Given the description of an element on the screen output the (x, y) to click on. 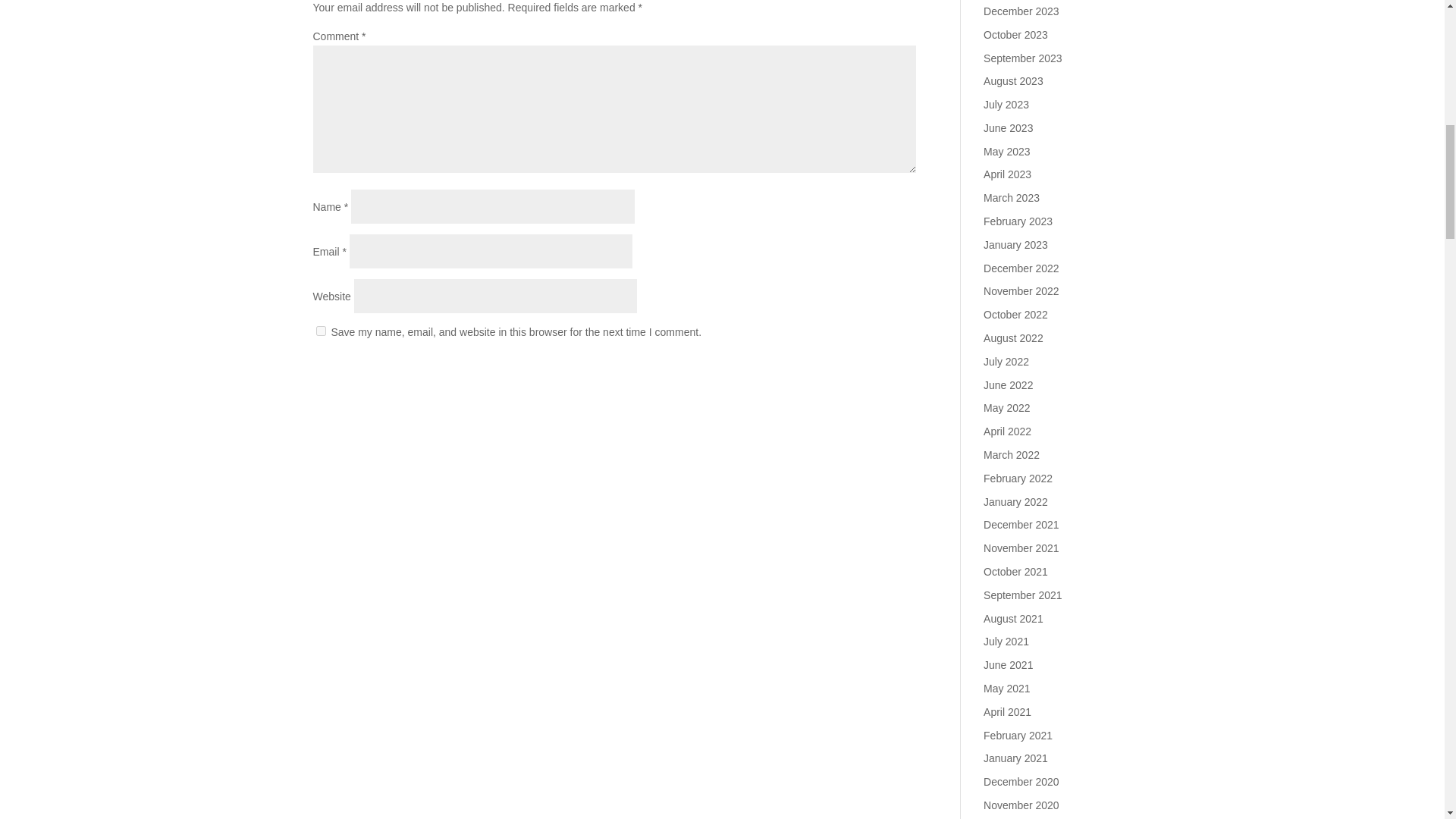
Submit Comment (840, 371)
Submit Comment (840, 371)
yes (319, 330)
